Given the description of an element on the screen output the (x, y) to click on. 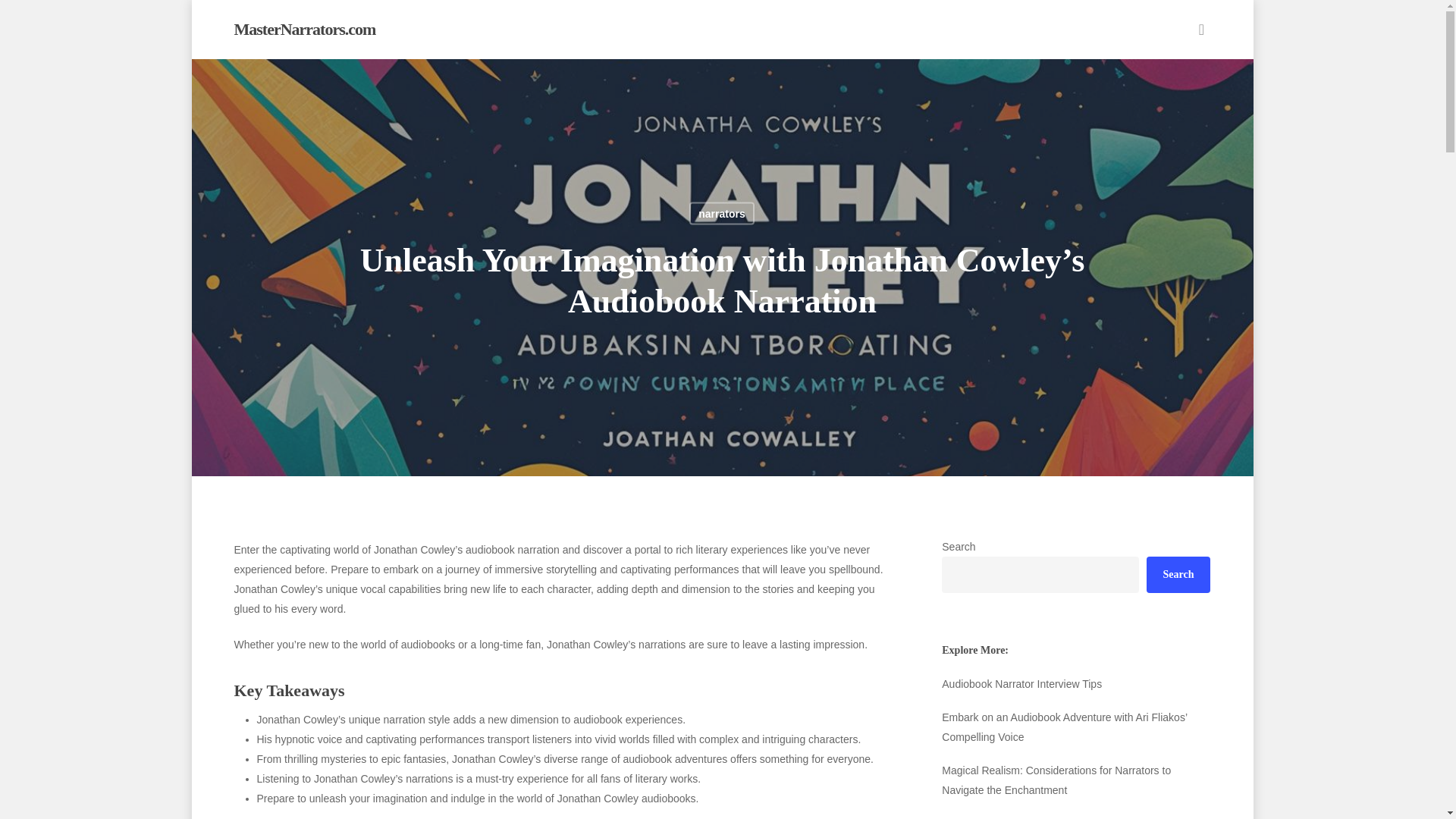
Search (1179, 574)
MasterNarrators.com (303, 29)
Improving Public Speaking Skills for Narration (1075, 717)
search (1200, 28)
Freelance Opportunities for Audiobook Narrators (1075, 683)
Dive into the World of Audiobooks with David Pittu (1075, 803)
narrators (721, 212)
